Given the description of an element on the screen output the (x, y) to click on. 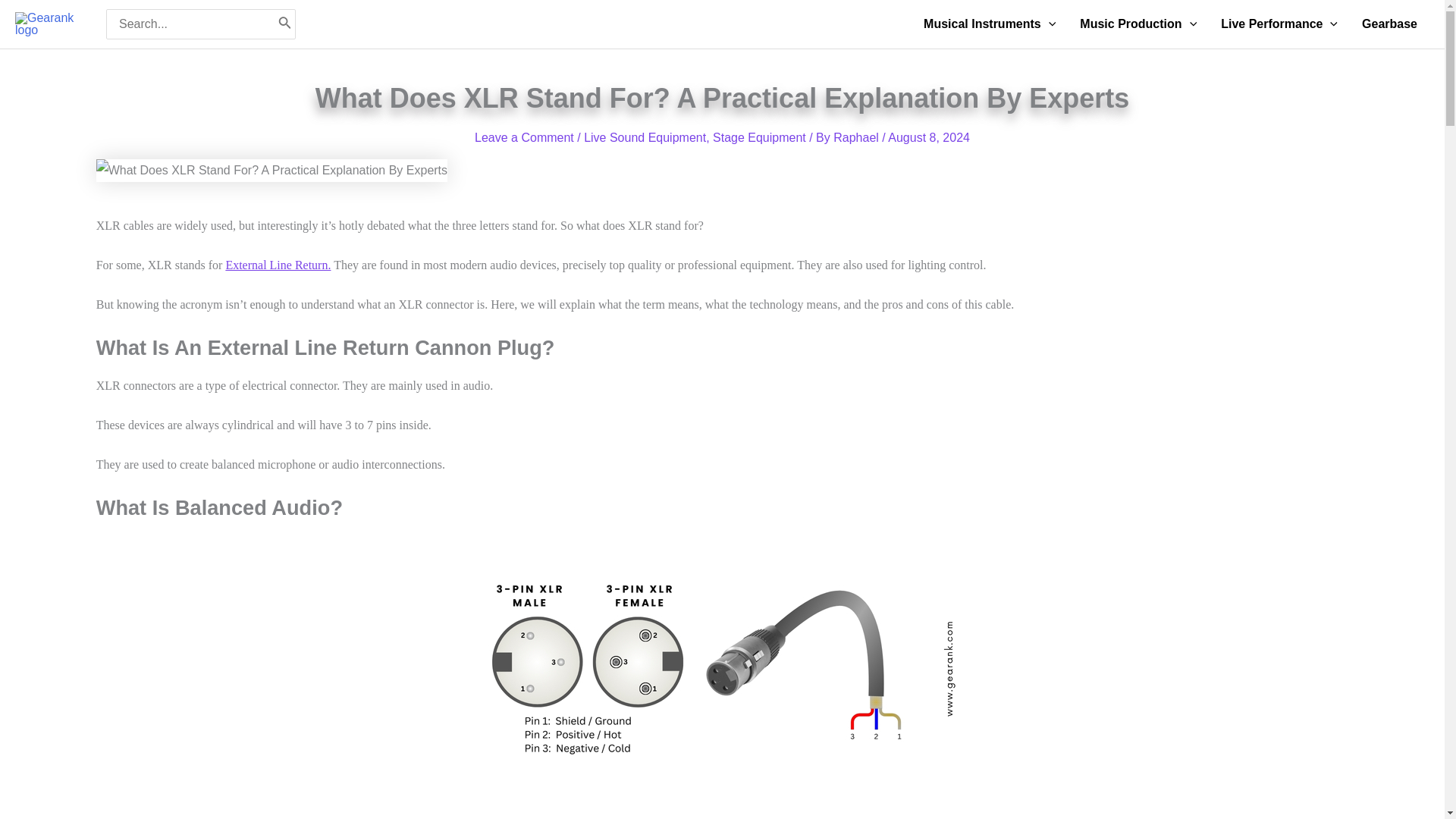
Music Production (1137, 23)
View all posts by Raphael (857, 137)
Musical Instruments (989, 23)
Gearbase (1389, 23)
Live Performance (1278, 23)
